Given the description of an element on the screen output the (x, y) to click on. 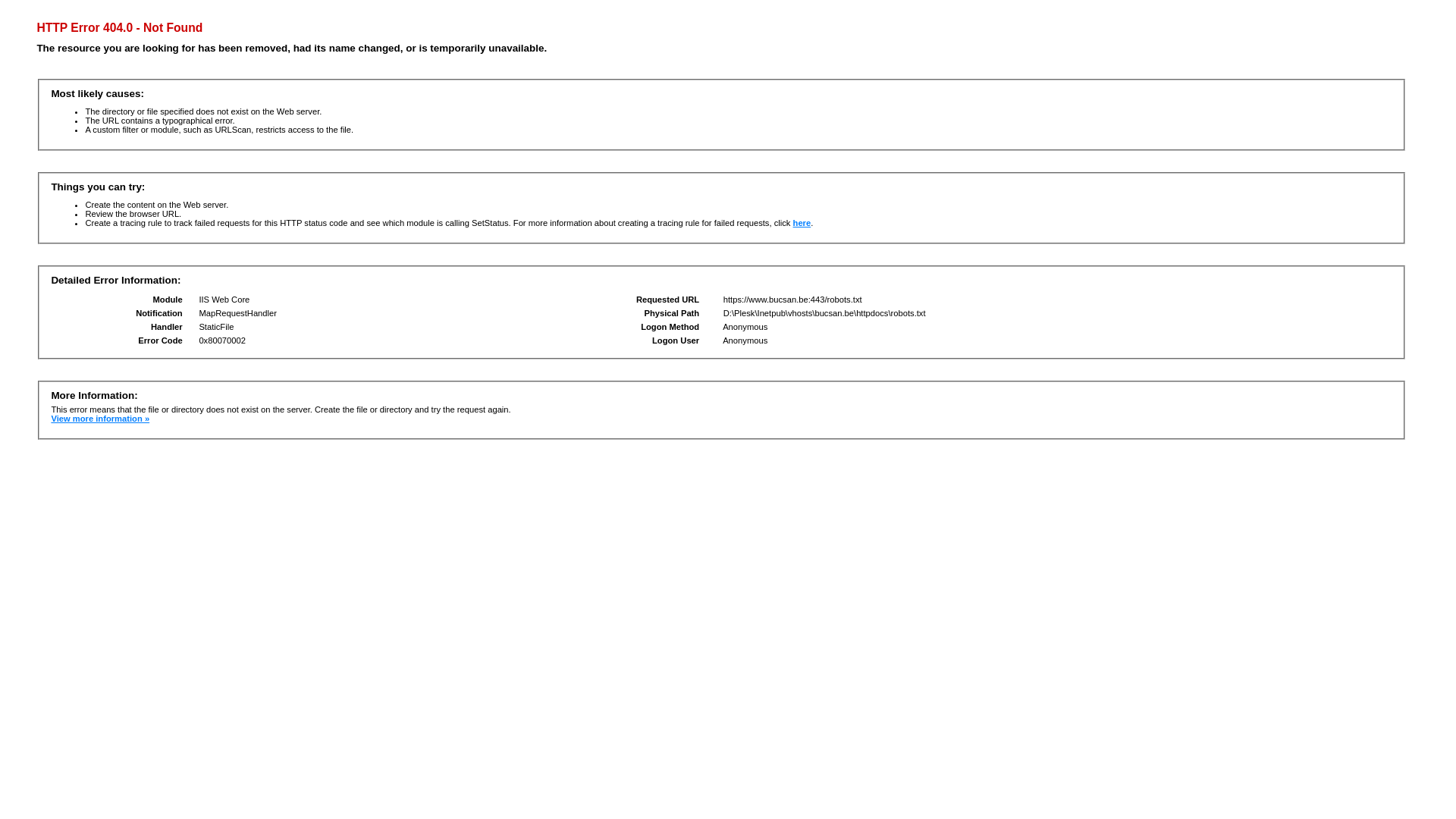
here Element type: text (802, 222)
